Given the description of an element on the screen output the (x, y) to click on. 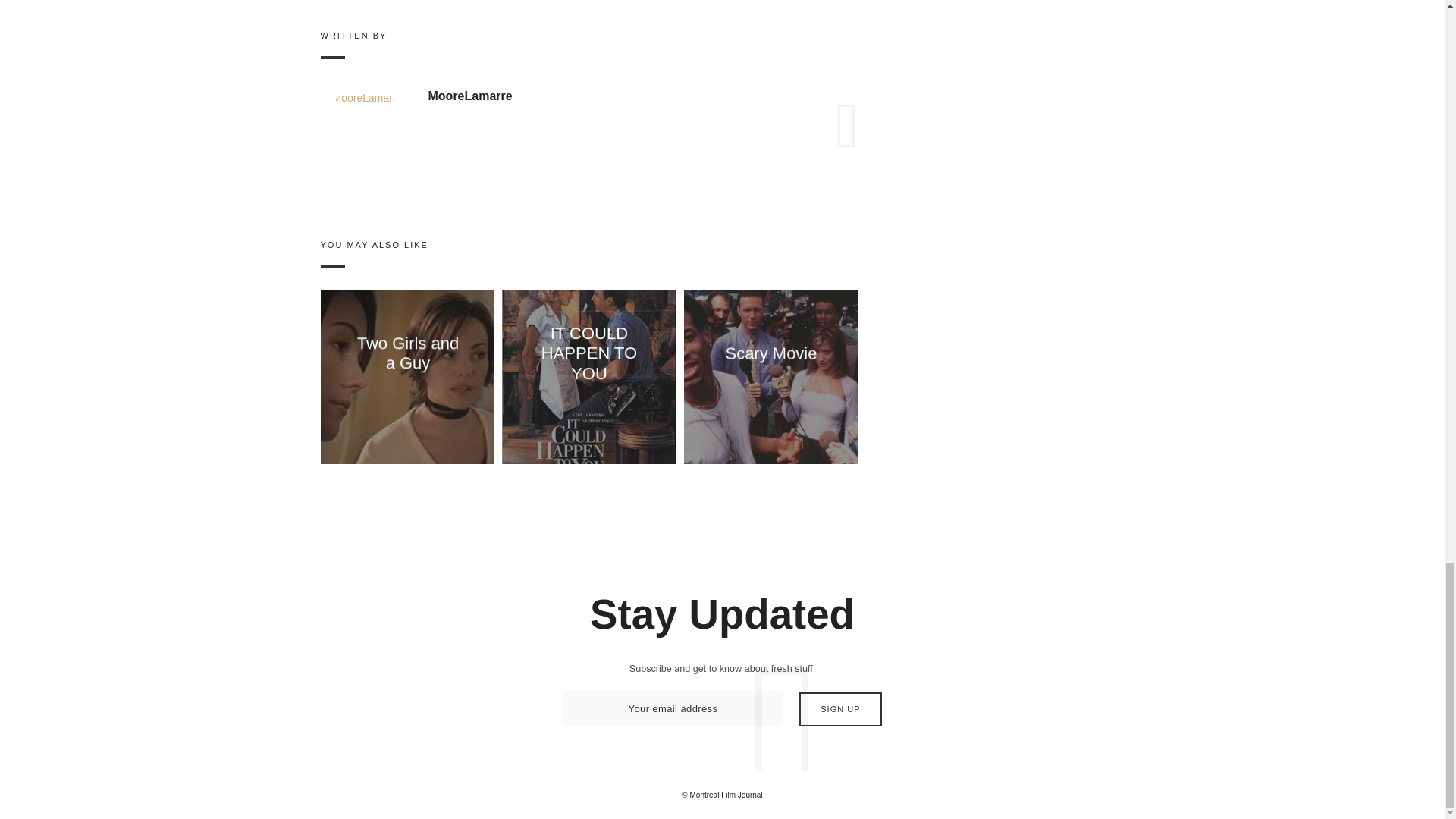
Scary Movie (770, 353)
Sign up (839, 709)
Two Girls and a Guy (407, 352)
IT COULD HAPPEN TO YOU (589, 353)
